Given the description of an element on the screen output the (x, y) to click on. 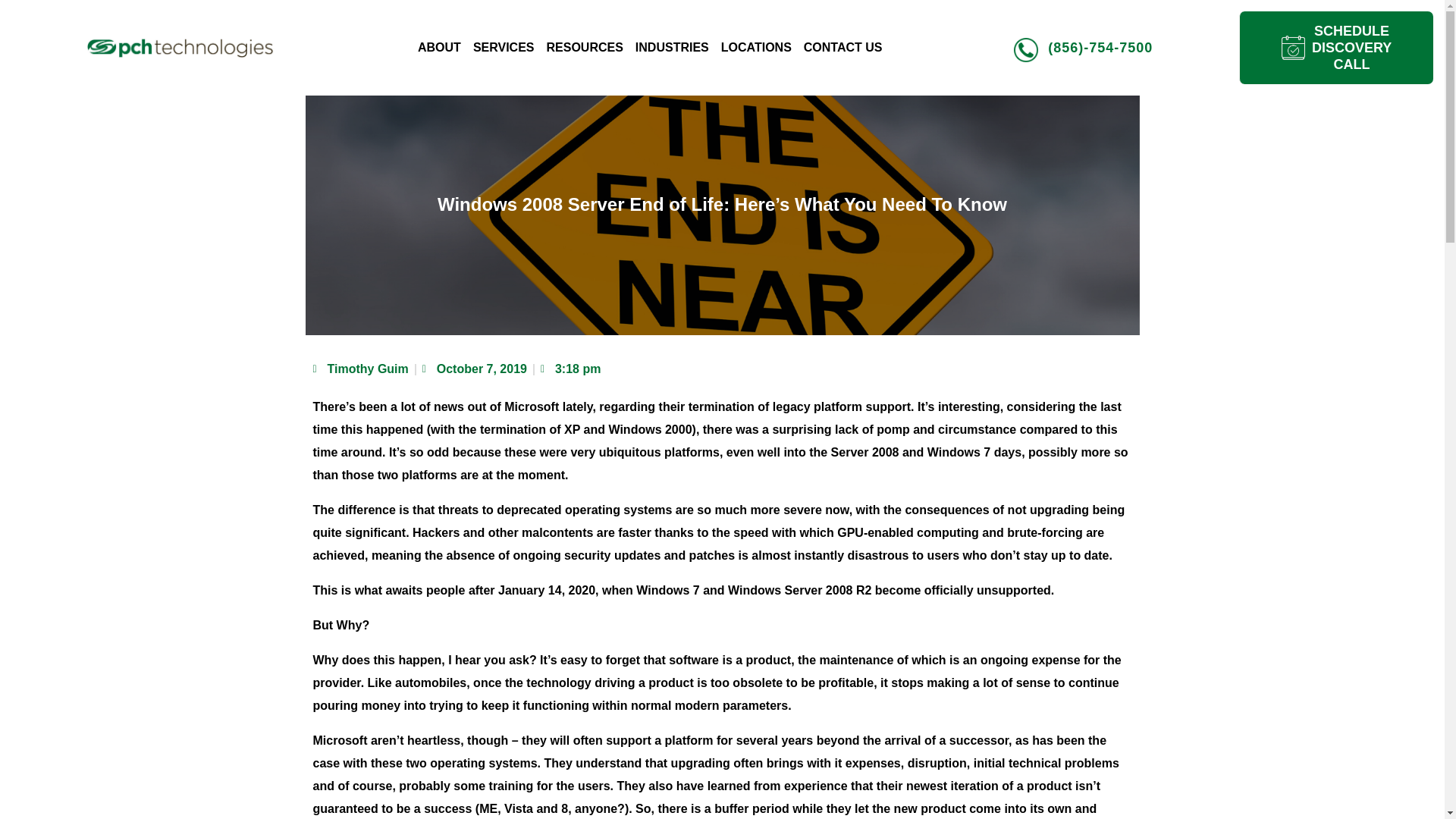
LOCATIONS (755, 47)
SERVICES (503, 47)
CONTACT US (842, 47)
ABOUT (439, 47)
INDUSTRIES (671, 47)
RESOURCES (584, 47)
